Given the description of an element on the screen output the (x, y) to click on. 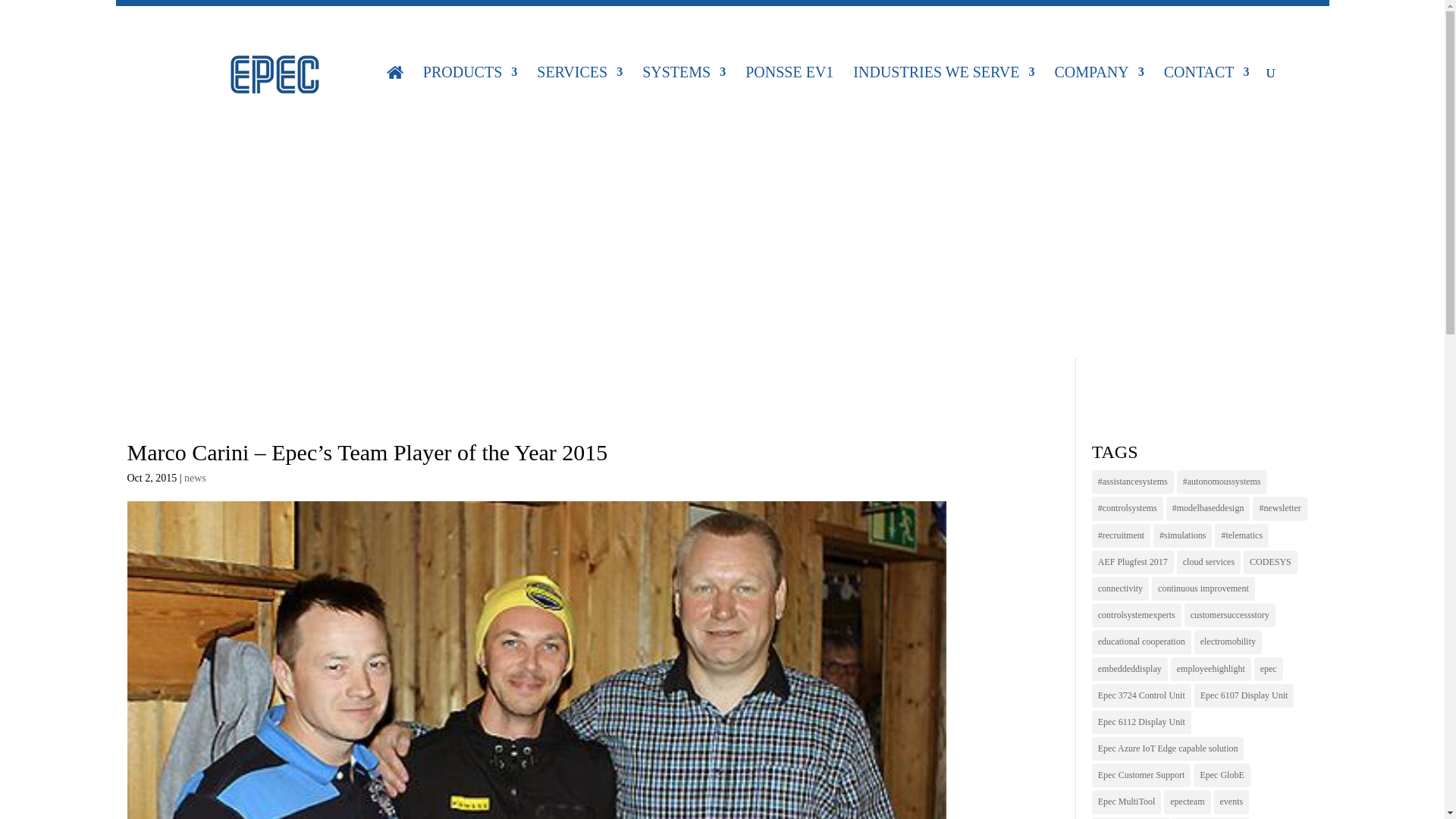
SERVICES (580, 93)
SYSTEMS (683, 93)
CUSTOMER SUPPORT (637, 22)
PRODUCTS (469, 93)
INDUSTRIES WE SERVE (943, 93)
COMPANY (1098, 93)
EXTRANET (393, 22)
ARTICLES (959, 22)
Go to the news category archives. (589, 314)
EPEC RECRUITMENTS (1246, 22)
FAQ (499, 22)
WEBINARS (1083, 22)
PONSSE EV1 (788, 93)
